Given the description of an element on the screen output the (x, y) to click on. 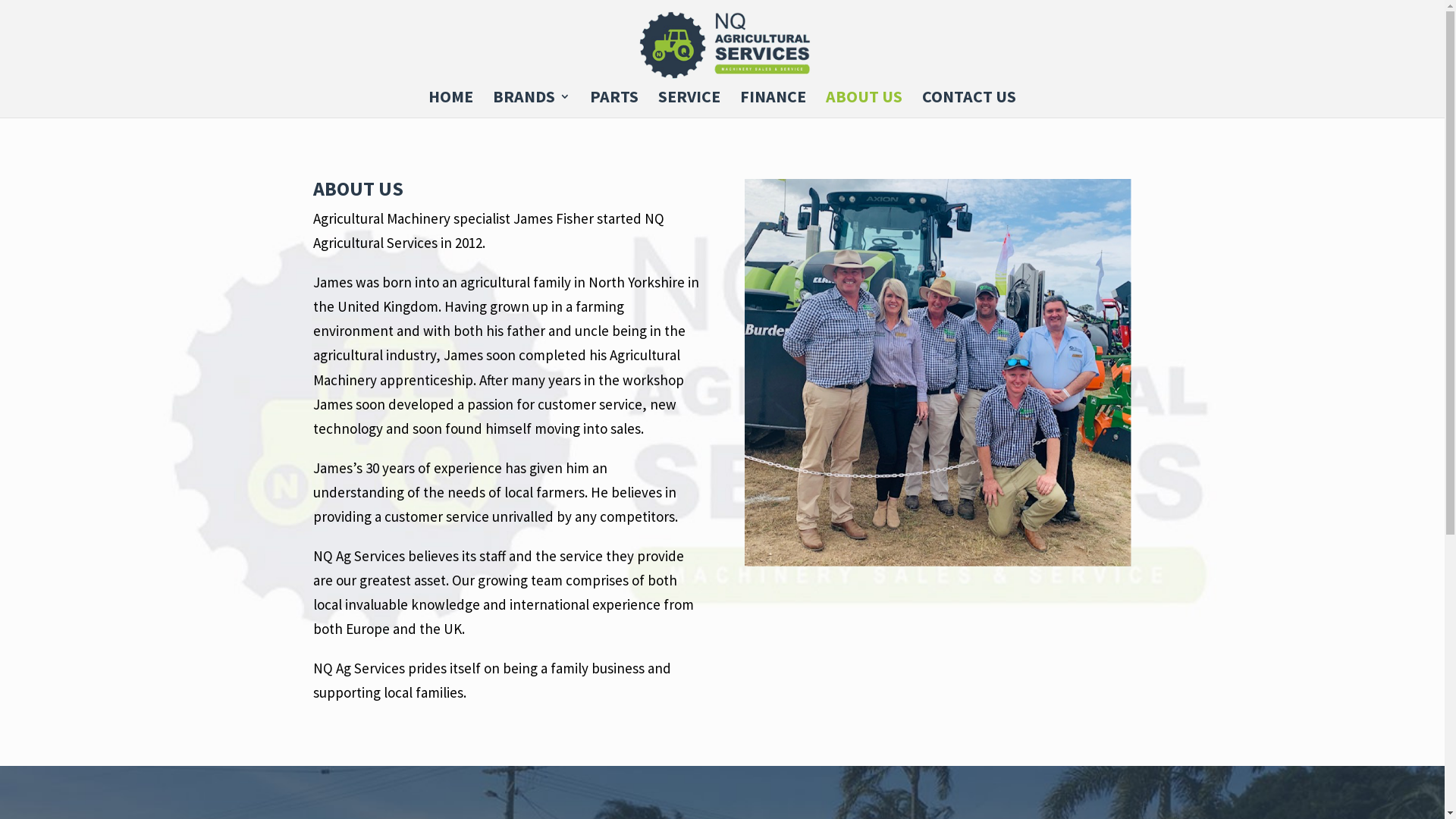
CONTACT US Element type: text (969, 104)
PARTS Element type: text (613, 104)
HOME Element type: text (450, 104)
SERVICE Element type: text (689, 104)
FINANCE Element type: text (773, 104)
ABOUT US Element type: text (863, 104)
BRANDS Element type: text (531, 104)
